Given the description of an element on the screen output the (x, y) to click on. 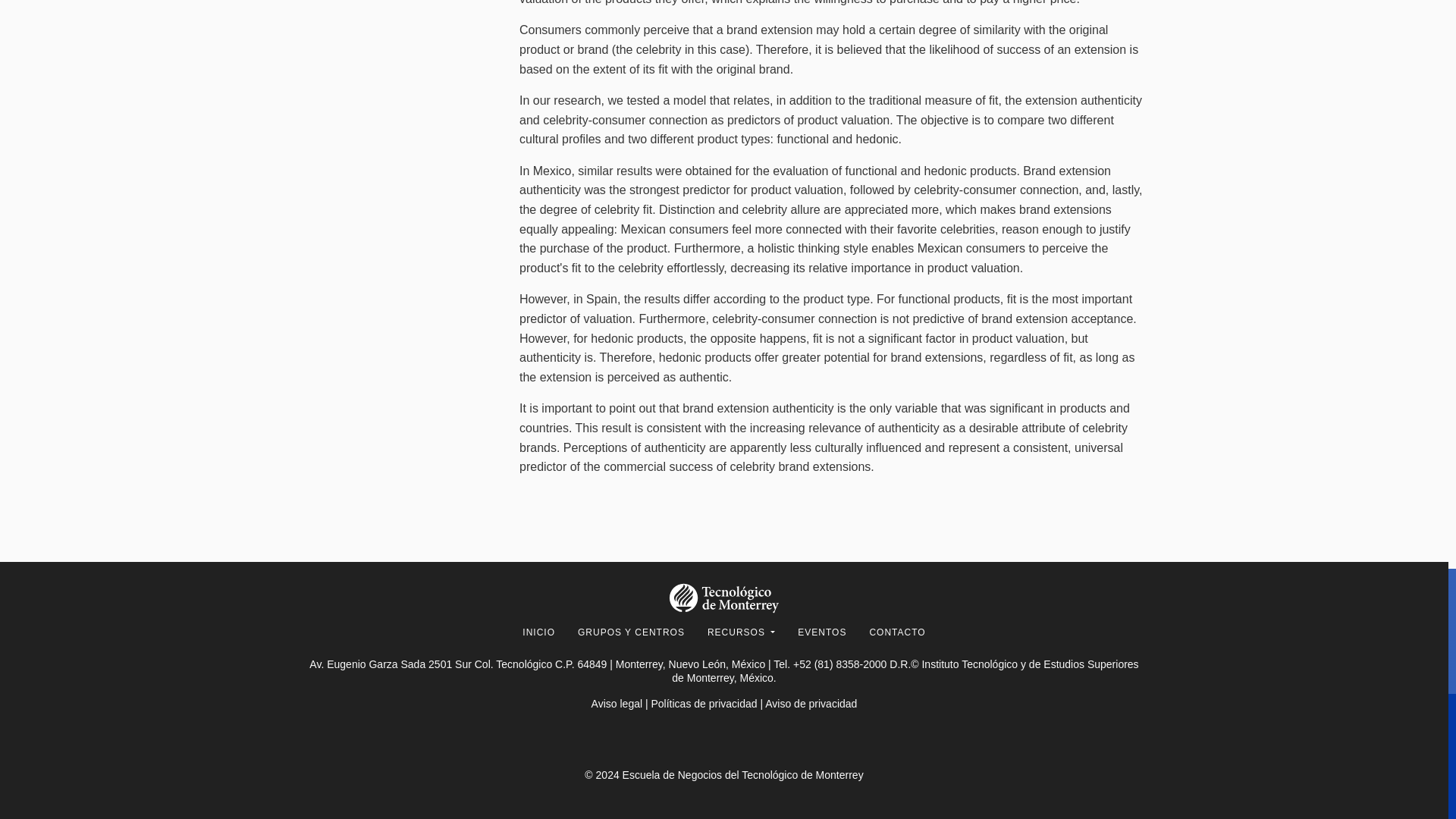
GRUPOS Y CENTROS (631, 632)
INICIO (538, 632)
RECURSOS (740, 632)
